Given the description of an element on the screen output the (x, y) to click on. 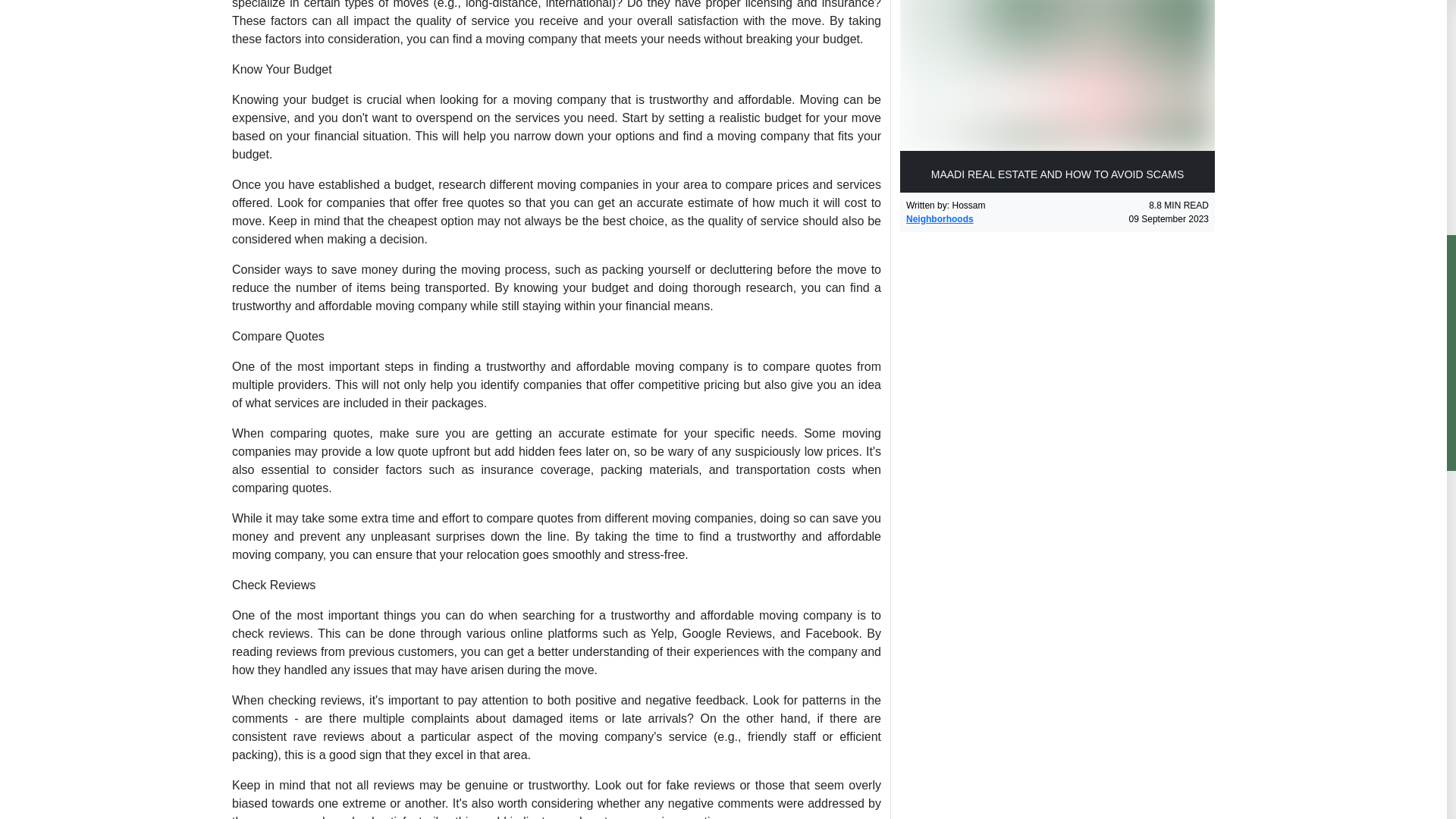
Neighborhoods (939, 218)
MAADI REAL ESTATE AND HOW TO AVOID SCAMS (1056, 96)
Neighborhoods (939, 218)
MAADI REAL ESTATE AND HOW TO AVOID SCAMS (1056, 96)
